Given the description of an element on the screen output the (x, y) to click on. 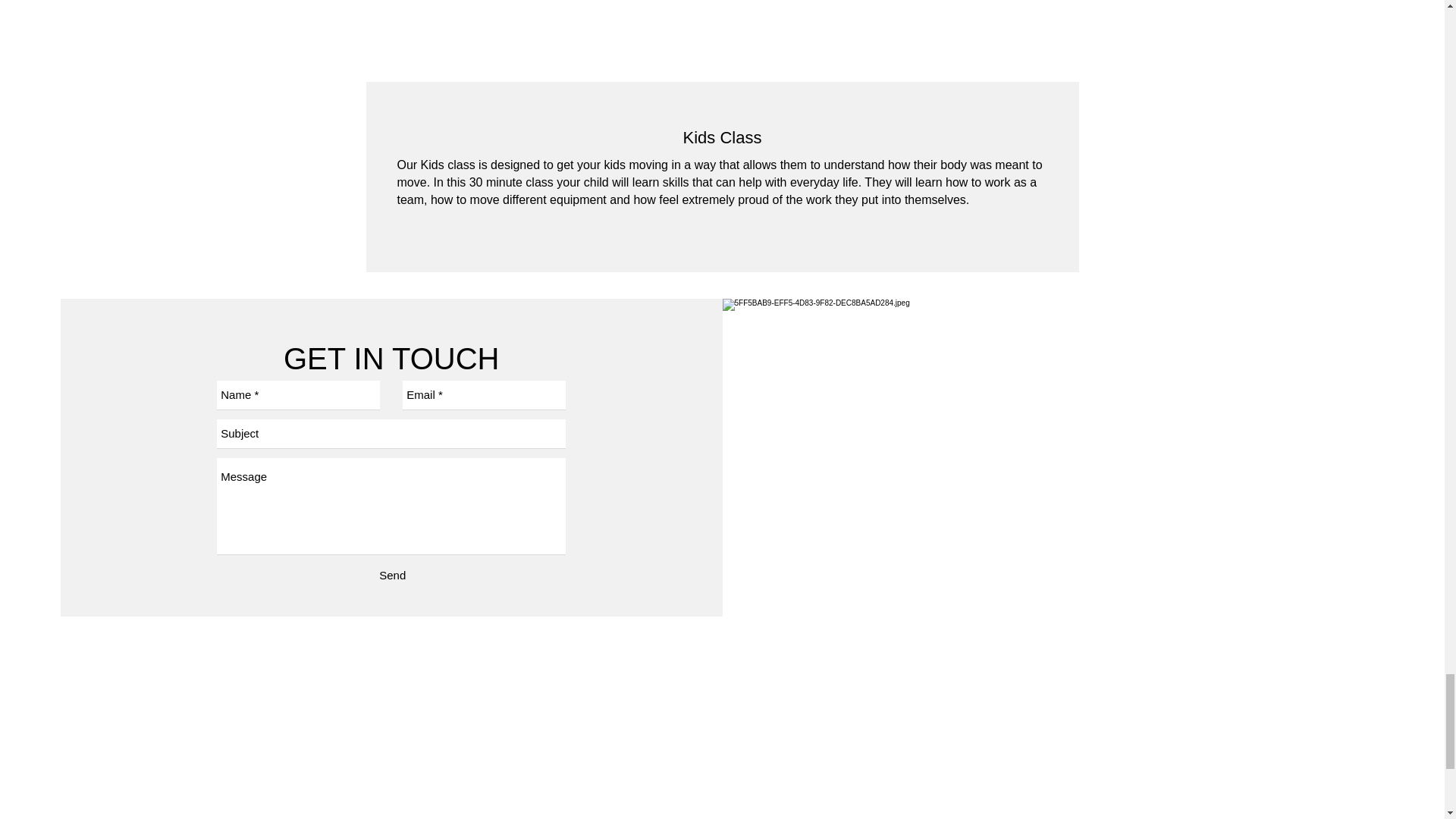
Send (392, 575)
